Given the description of an element on the screen output the (x, y) to click on. 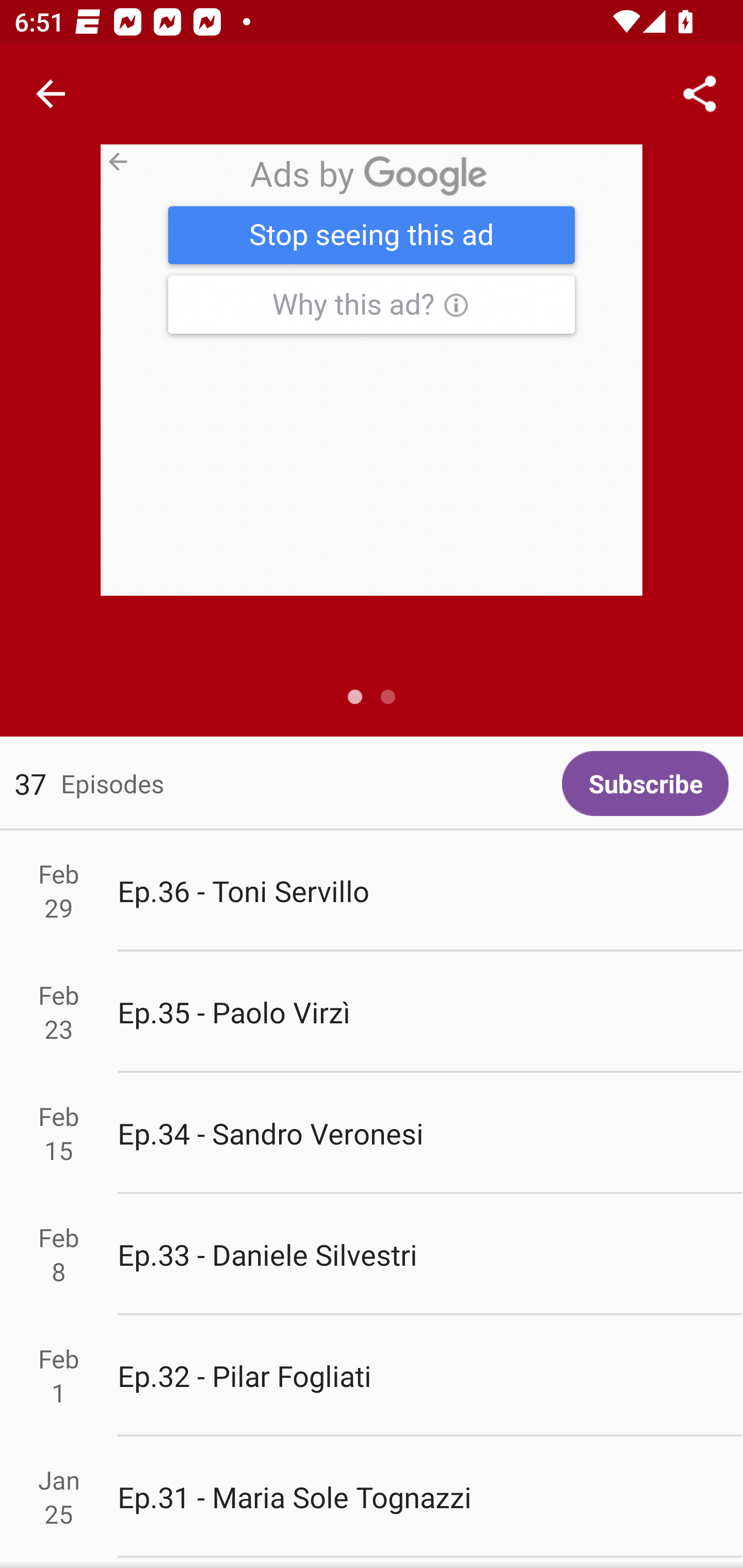
Navigate up (50, 93)
Share... (699, 93)
Subscribe (644, 783)
Feb 29 Ep.36 - Toni Servillo (371, 891)
Feb 23 Ep.35 - Paolo Virzì (371, 1011)
Feb 15 Ep.34 - Sandro Veronesi (371, 1133)
Feb 8 Ep.33 - Daniele Silvestri (371, 1254)
Feb 1 Ep.32 - Pilar Fogliati (371, 1375)
Jan 25 Ep.31 - Maria Sole Tognazzi (371, 1496)
